Given the description of an element on the screen output the (x, y) to click on. 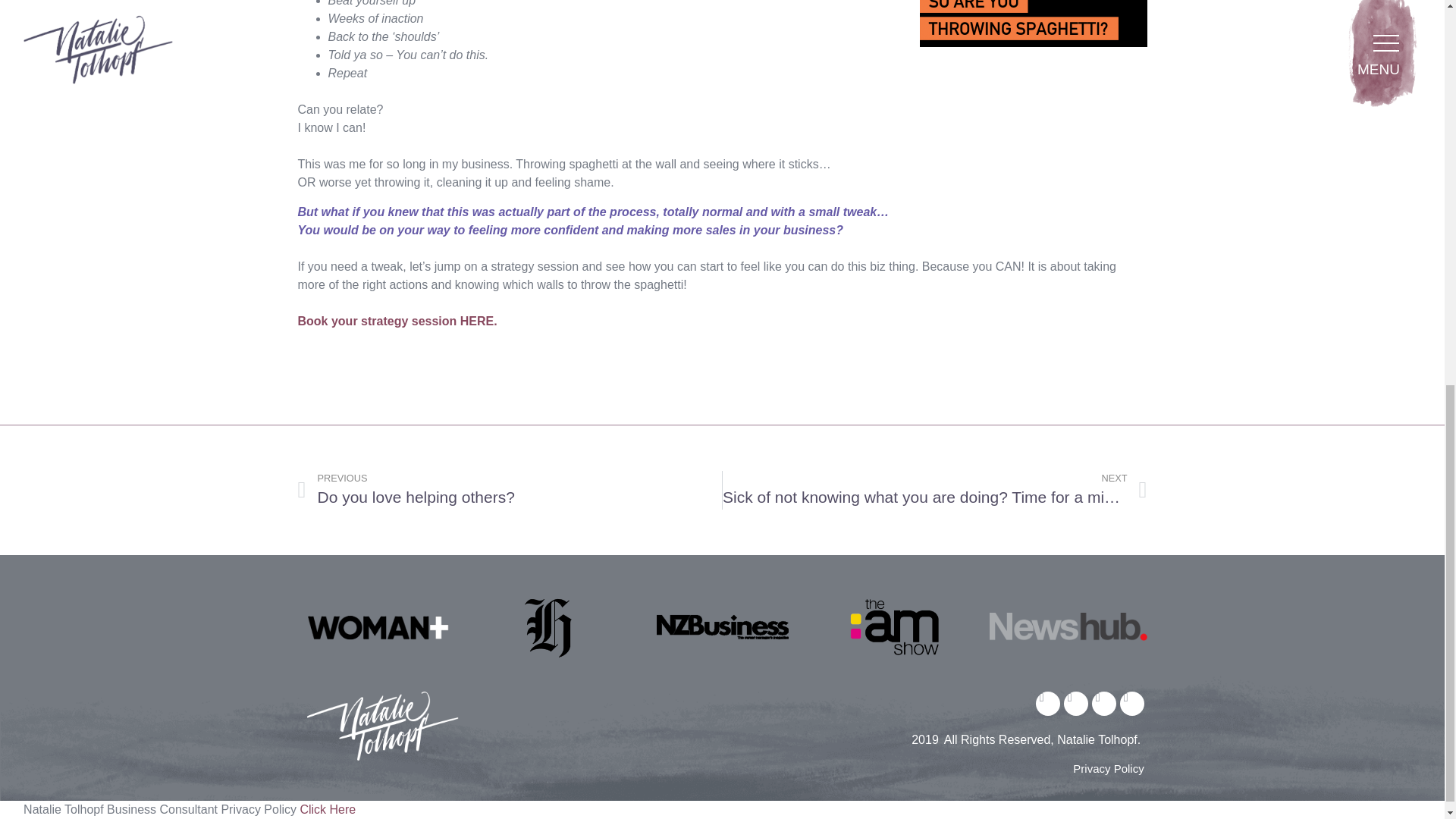
Book your strategy session HERE. (396, 320)
